Given the description of an element on the screen output the (x, y) to click on. 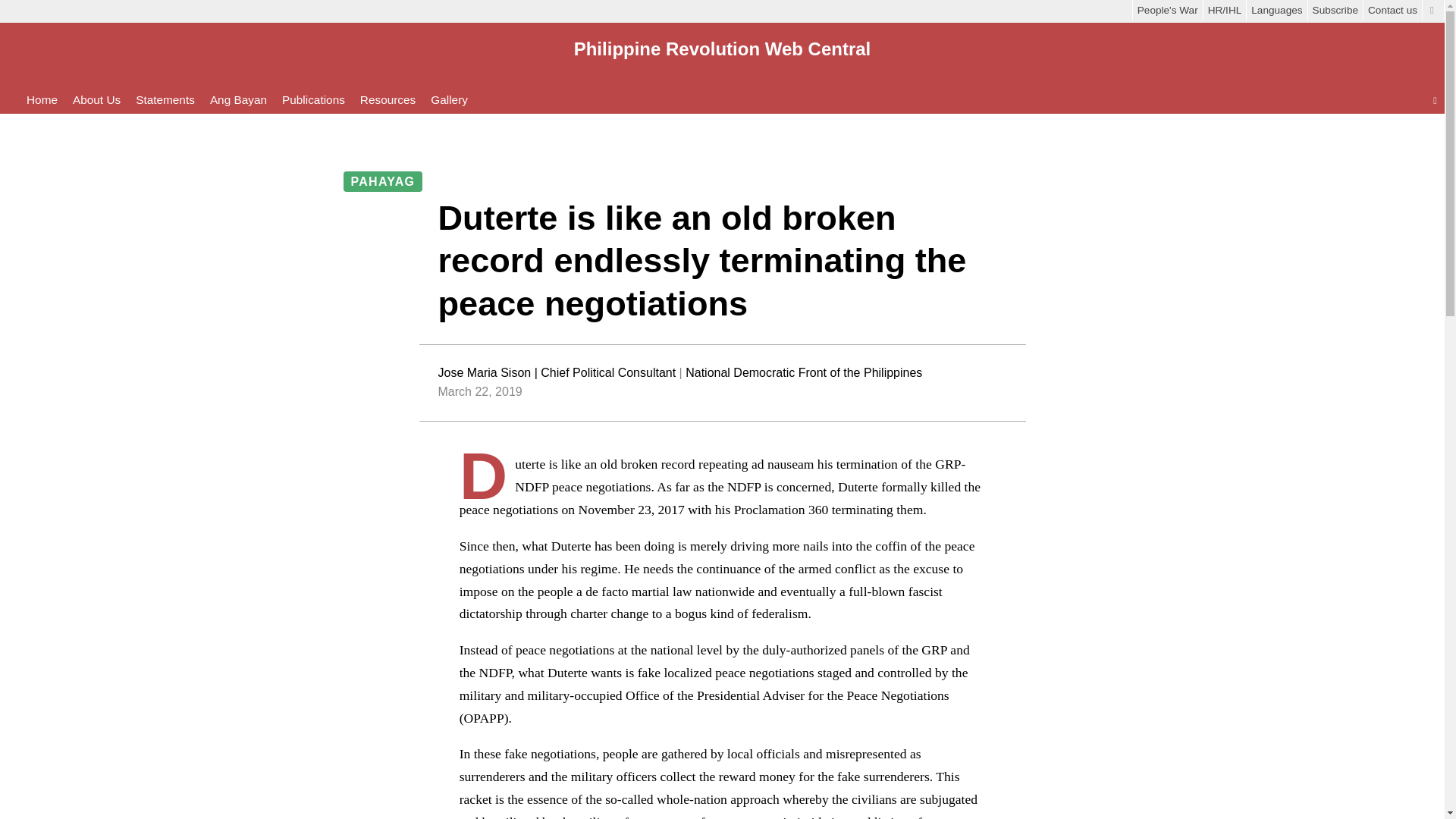
About Us (96, 99)
Home (42, 99)
Contact us (1392, 9)
Publications (313, 99)
Languages (1276, 9)
Resources (386, 99)
Statements (165, 99)
Ang Bayan (237, 99)
People's War (1167, 9)
Subscribe (1334, 9)
